Given the description of an element on the screen output the (x, y) to click on. 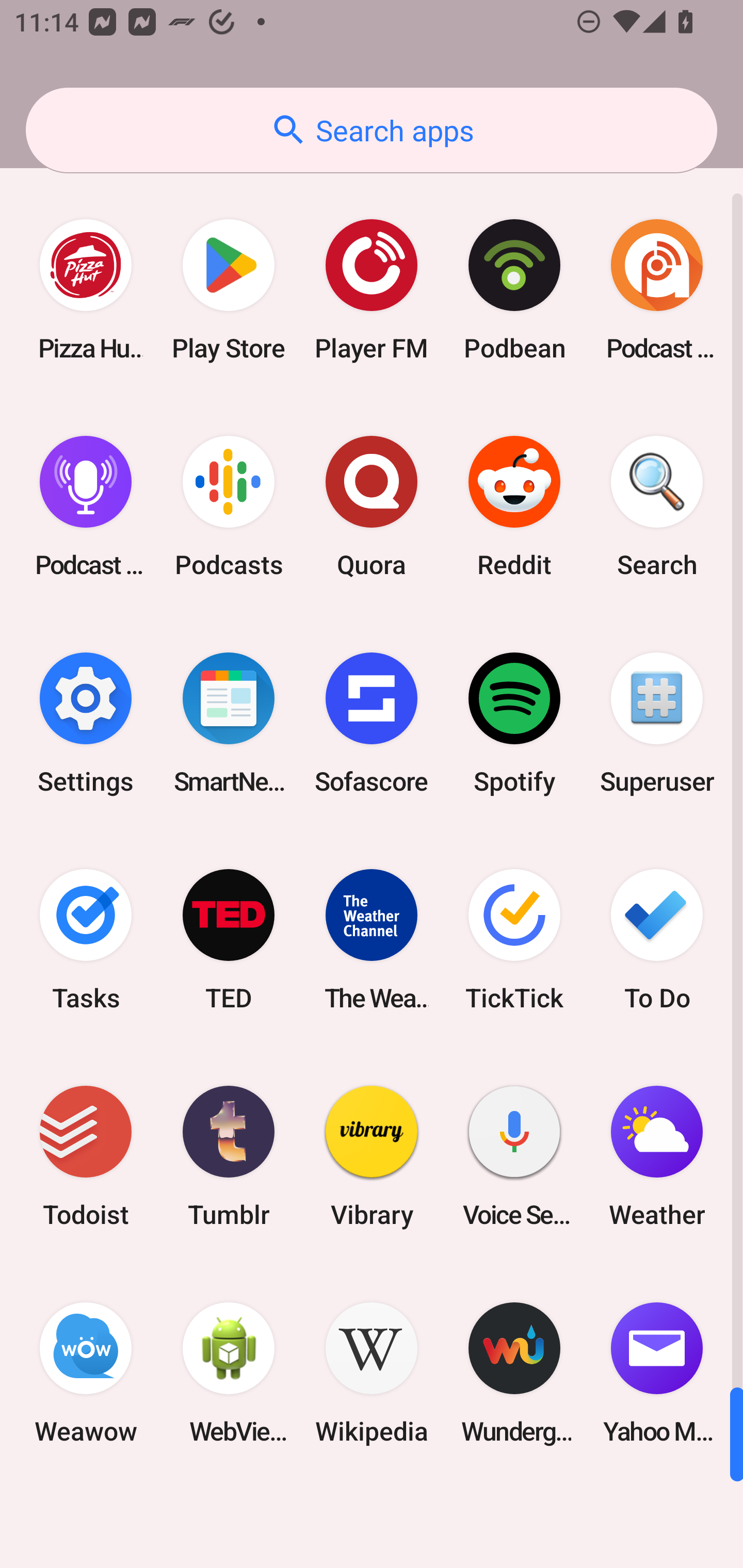
  Search apps (371, 130)
Pizza Hut HK & Macau (85, 289)
Play Store (228, 289)
Player FM (371, 289)
Podbean (514, 289)
Podcast Addict (656, 289)
Podcast Player (85, 506)
Podcasts (228, 506)
Quora (371, 506)
Reddit (514, 506)
Search (656, 506)
Settings (85, 722)
SmartNews (228, 722)
Sofascore (371, 722)
Spotify (514, 722)
Superuser (656, 722)
Tasks (85, 939)
TED (228, 939)
The Weather Channel (371, 939)
TickTick (514, 939)
To Do (656, 939)
Todoist (85, 1156)
Tumblr (228, 1156)
Vibrary (371, 1156)
Voice Search (514, 1156)
Weather (656, 1156)
Weawow (85, 1373)
WebView Browser Tester (228, 1373)
Wikipedia (371, 1373)
Wunderground (514, 1373)
Yahoo Mail (656, 1373)
